Given the description of an element on the screen output the (x, y) to click on. 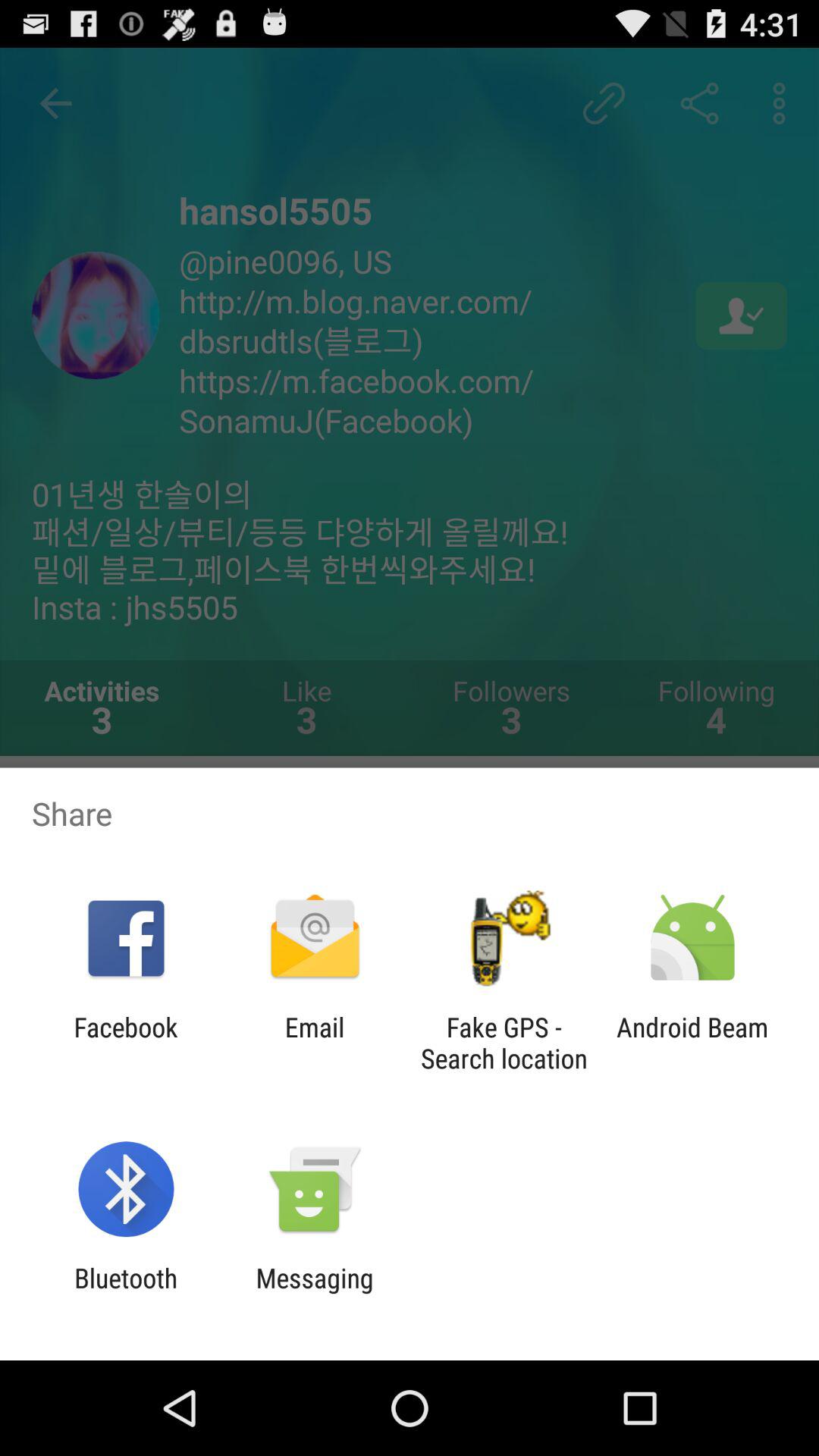
flip until the facebook item (125, 1042)
